Given the description of an element on the screen output the (x, y) to click on. 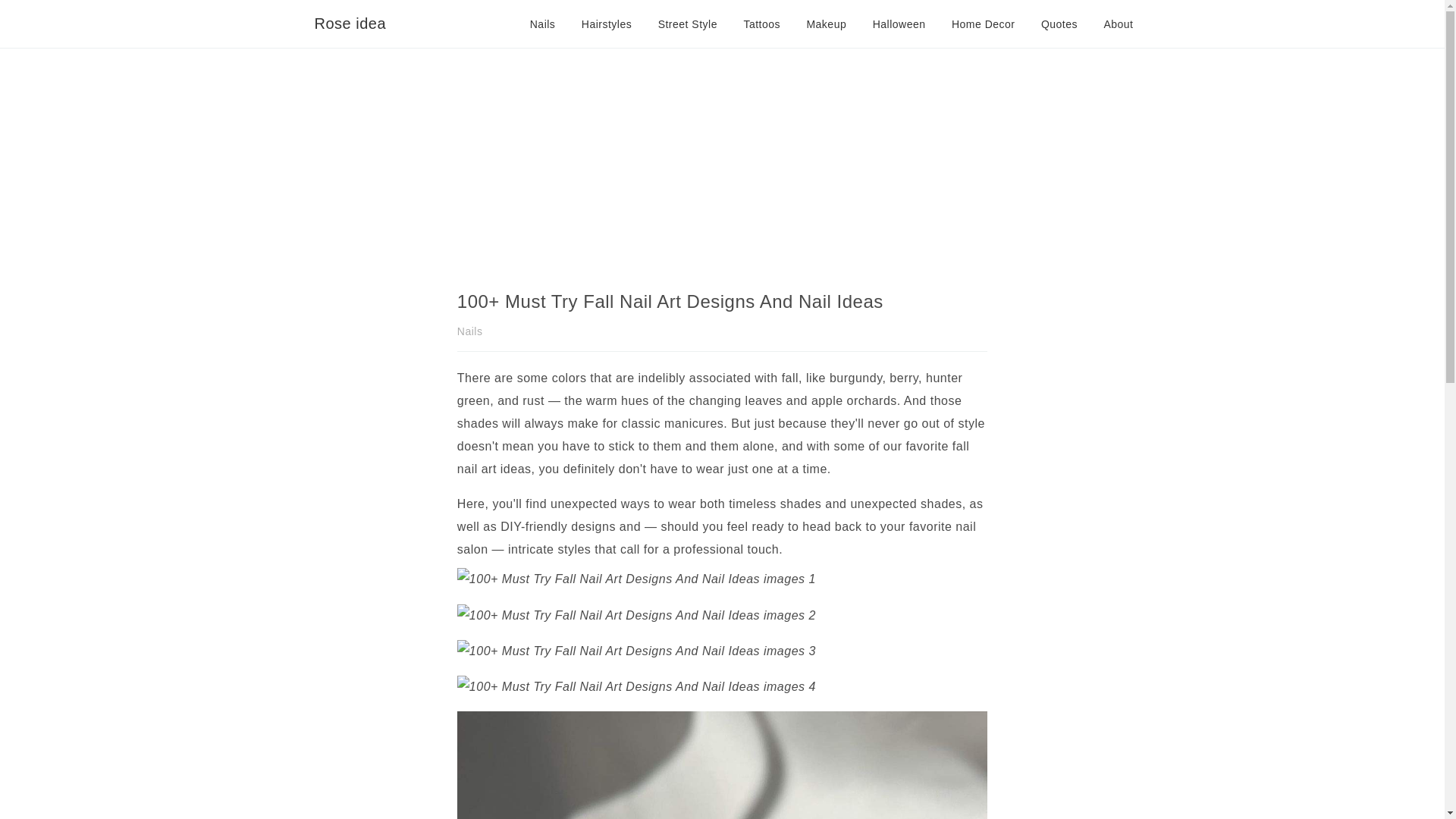
Halloween (899, 24)
Rose idea (349, 23)
Hairstyles (605, 24)
Nails (470, 331)
Nails (542, 24)
Home Decor (983, 24)
Street Style (687, 24)
Makeup (825, 24)
Quotes (1059, 24)
About (1117, 24)
Tattoos (761, 24)
